Given the description of an element on the screen output the (x, y) to click on. 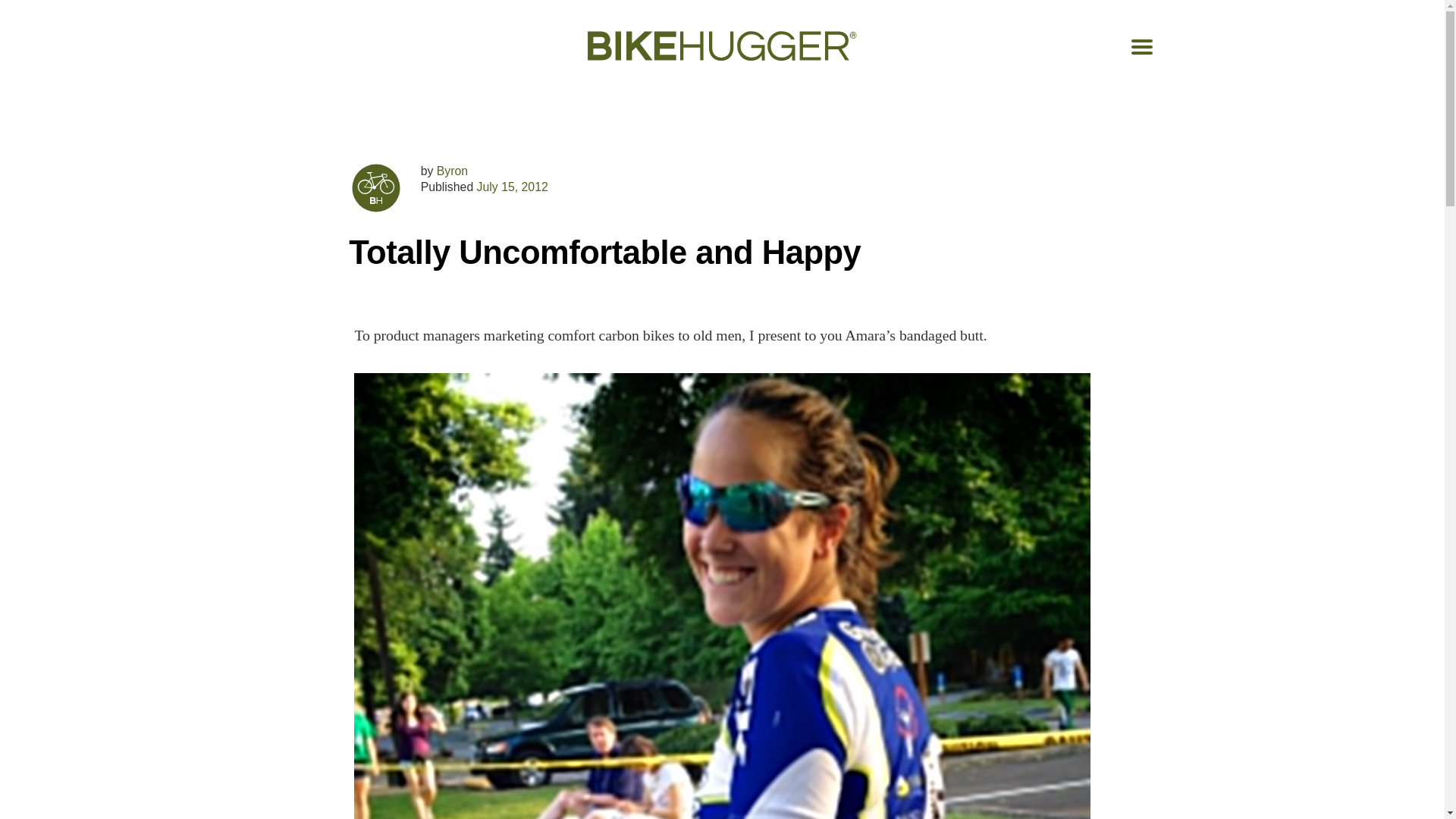
Byron (451, 170)
July 15, 2012 (512, 186)
MENU (1141, 47)
